Given the description of an element on the screen output the (x, y) to click on. 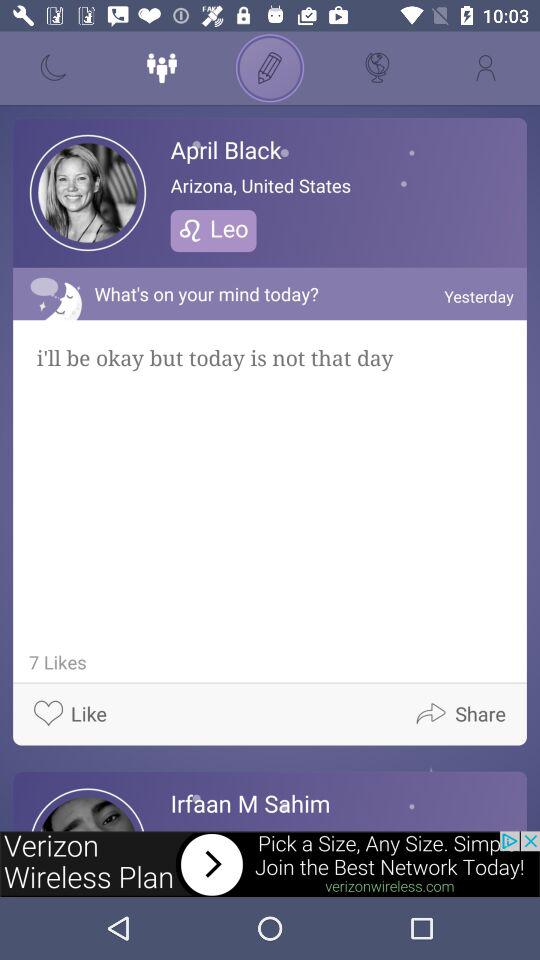
advertisement page (270, 864)
